Given the description of an element on the screen output the (x, y) to click on. 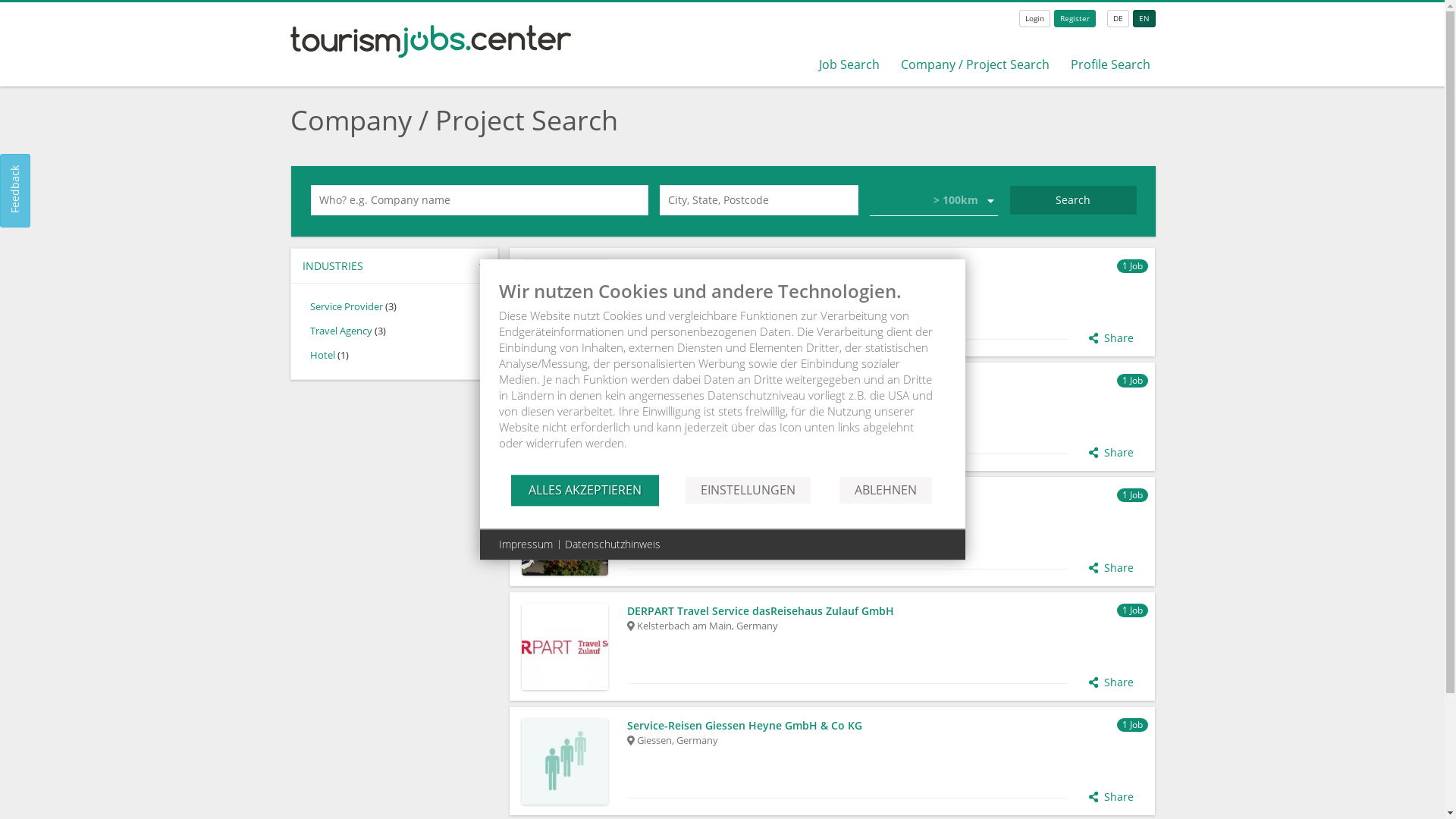
INDUSTRIES Element type: text (394, 265)
Twitter Element type: hover (749, 299)
LinkedIn Element type: hover (681, 299)
ALLES AKZEPTIEREN Element type: text (584, 489)
Feedback Element type: text (36, 168)
Facebook Element type: hover (658, 299)
Profile Search Element type: text (1110, 64)
Xing Element type: hover (704, 299)
Search Element type: text (1073, 200)
Homepage Element type: hover (636, 299)
Service-Reisen Giessen Heyne GmbH & Co KG Element type: text (885, 725)
 Share Element type: text (1111, 337)
 Share Element type: text (1111, 682)
LinkedIn Element type: hover (658, 414)
DERPART Travel Service dasReisehaus Zulauf GmbH Element type: text (885, 610)
Xing Element type: hover (636, 414)
Login Element type: text (1034, 18)
Reed & Mackay DE Element type: text (885, 381)
Tourism Job Center Element type: text (430, 53)
 Share Element type: text (1111, 452)
EN Element type: text (1143, 18)
Homepage Element type: hover (681, 414)
YouTube Element type: hover (727, 299)
Impressum Element type: text (525, 544)
 Share Element type: text (1111, 567)
Job Search Element type: text (849, 64)
ABLEHNEN Element type: text (885, 489)
Leonardo Hotels Element type: text (885, 266)
EINSTELLUNGEN Element type: text (747, 489)
Company / Project Search Element type: text (975, 64)
Datenschutzhinweis Element type: text (611, 544)
Register Element type: text (1074, 18)
DE Element type: text (1118, 18)
 Share Element type: text (1111, 796)
Rentmobil Reisemobil GmbH Element type: text (885, 495)
